Given the description of an element on the screen output the (x, y) to click on. 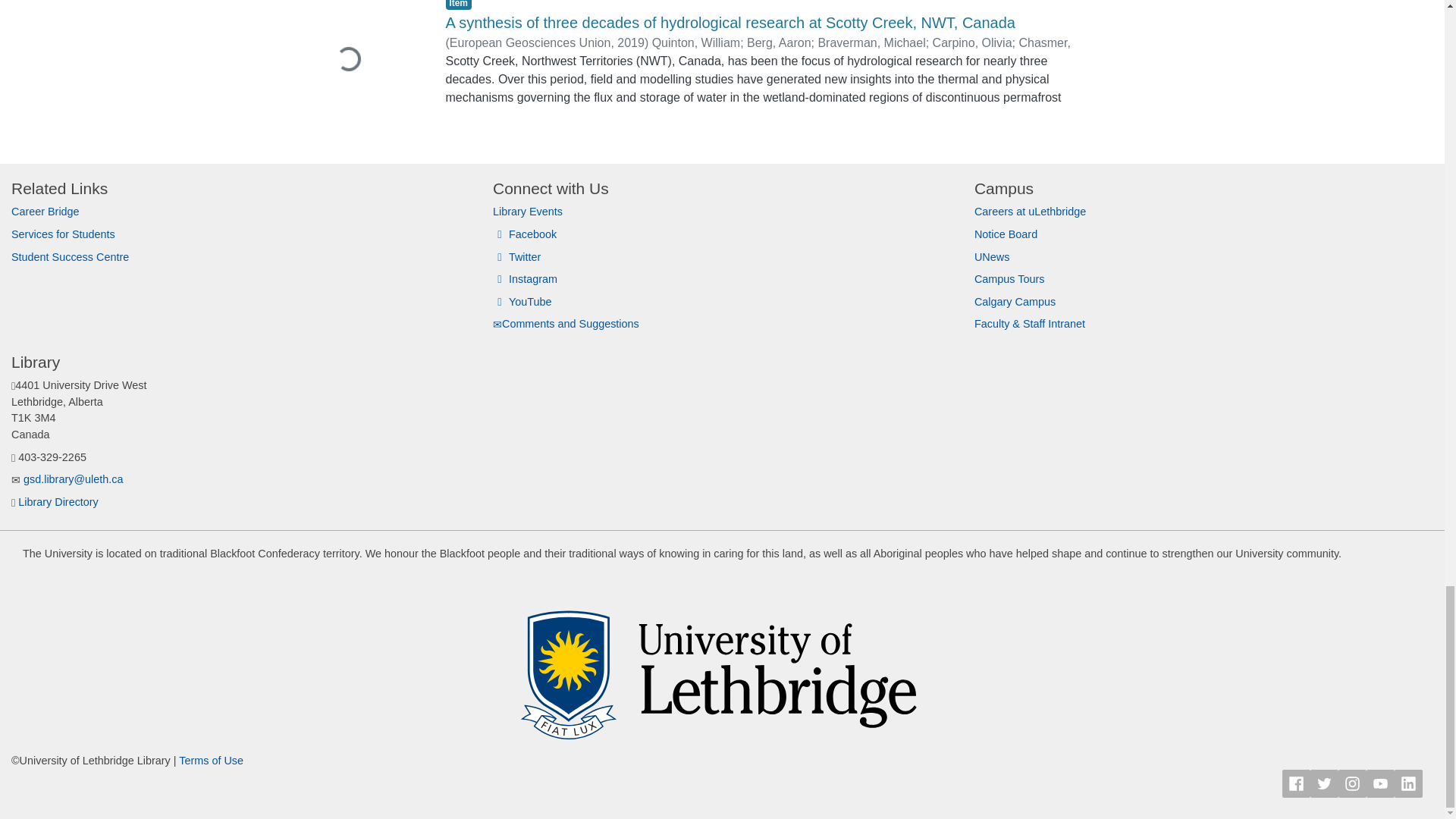
Facebook Link (1296, 783)
YouTube Link (1380, 783)
Instagram Link (1352, 783)
LinkedIn Link (1408, 783)
The University of Lethbridge (721, 664)
Twitter Link (1324, 783)
